Given the description of an element on the screen output the (x, y) to click on. 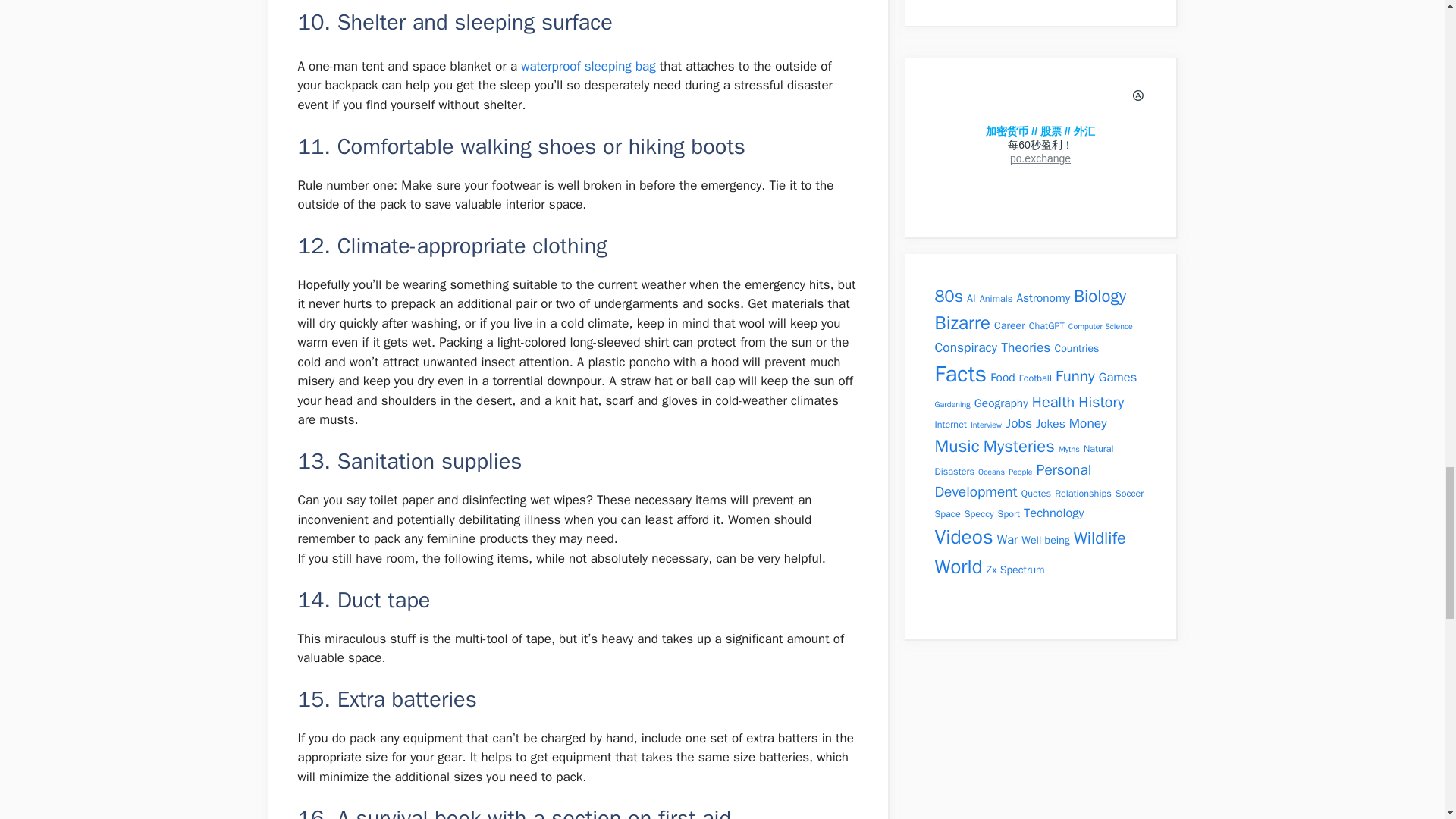
waterproof sleeping bag (588, 66)
